Given the description of an element on the screen output the (x, y) to click on. 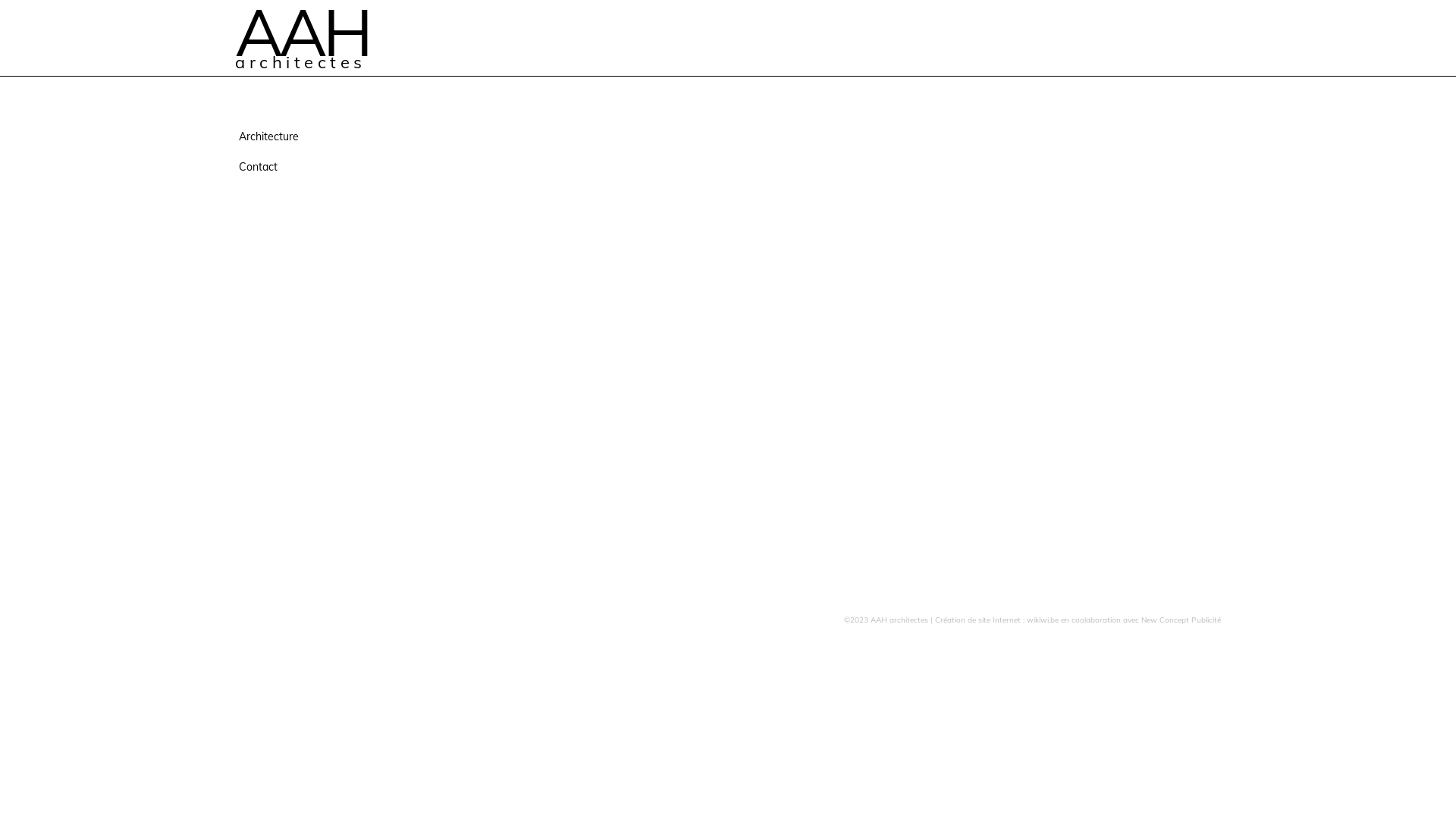
Architecture Element type: text (305, 136)
Contact Element type: text (305, 166)
AAH
architectes Element type: text (310, 39)
< Element type: text (448, 269)
> Element type: text (1137, 269)
